Given the description of an element on the screen output the (x, y) to click on. 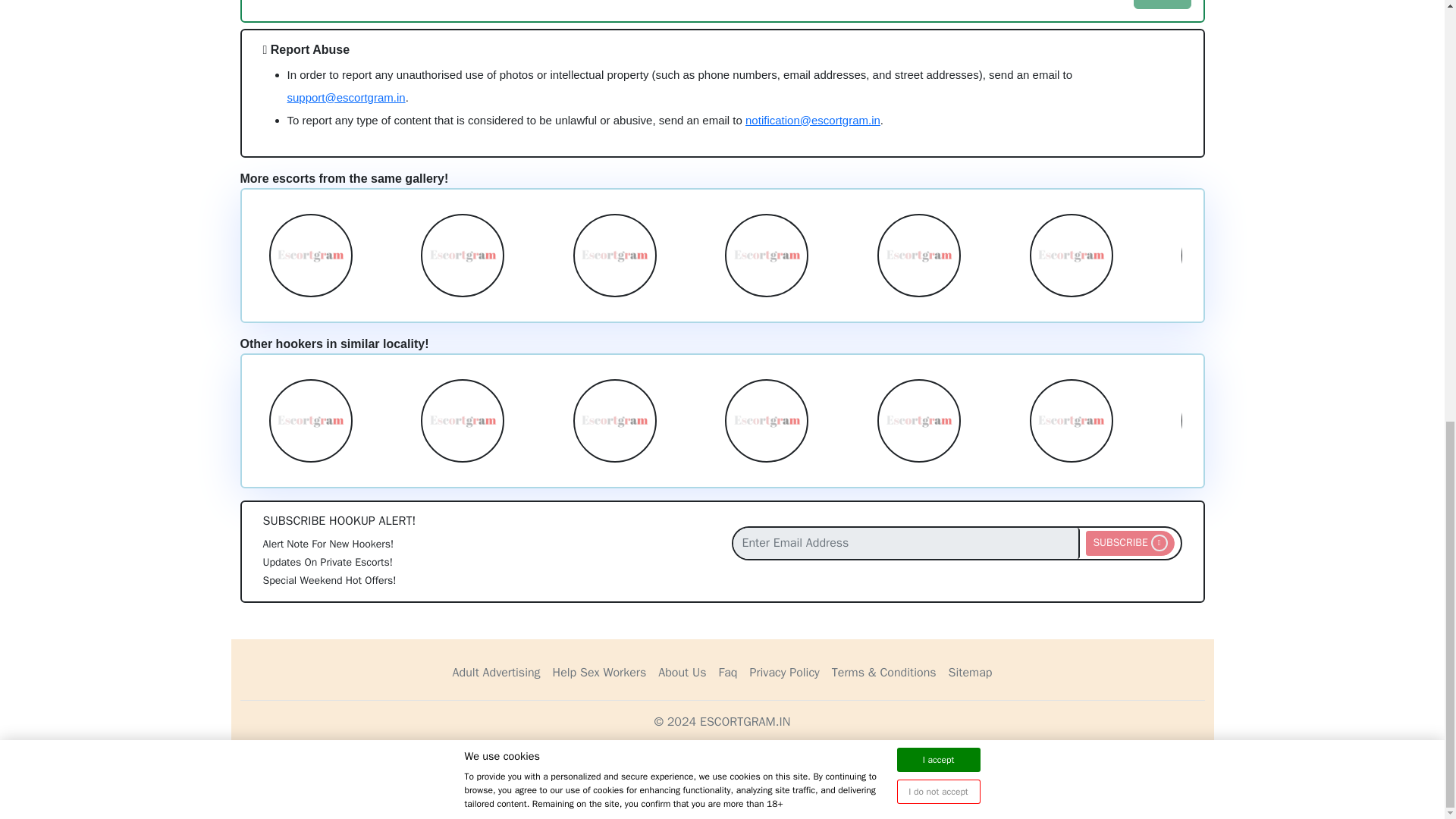
Air Hostess Escort Neha R (1222, 254)
text (357, 4)
Young Escort Diksha Maurya (309, 419)
Air Hostess Escort Victoria (1071, 254)
Air Hostess Escort Sushmanarula (919, 254)
text (288, 4)
Air Hostess Escort Latika Seghal (309, 254)
text (311, 4)
Submit (1162, 4)
Air Hostess Escort Kavya Rautela (1375, 254)
